Given the description of an element on the screen output the (x, y) to click on. 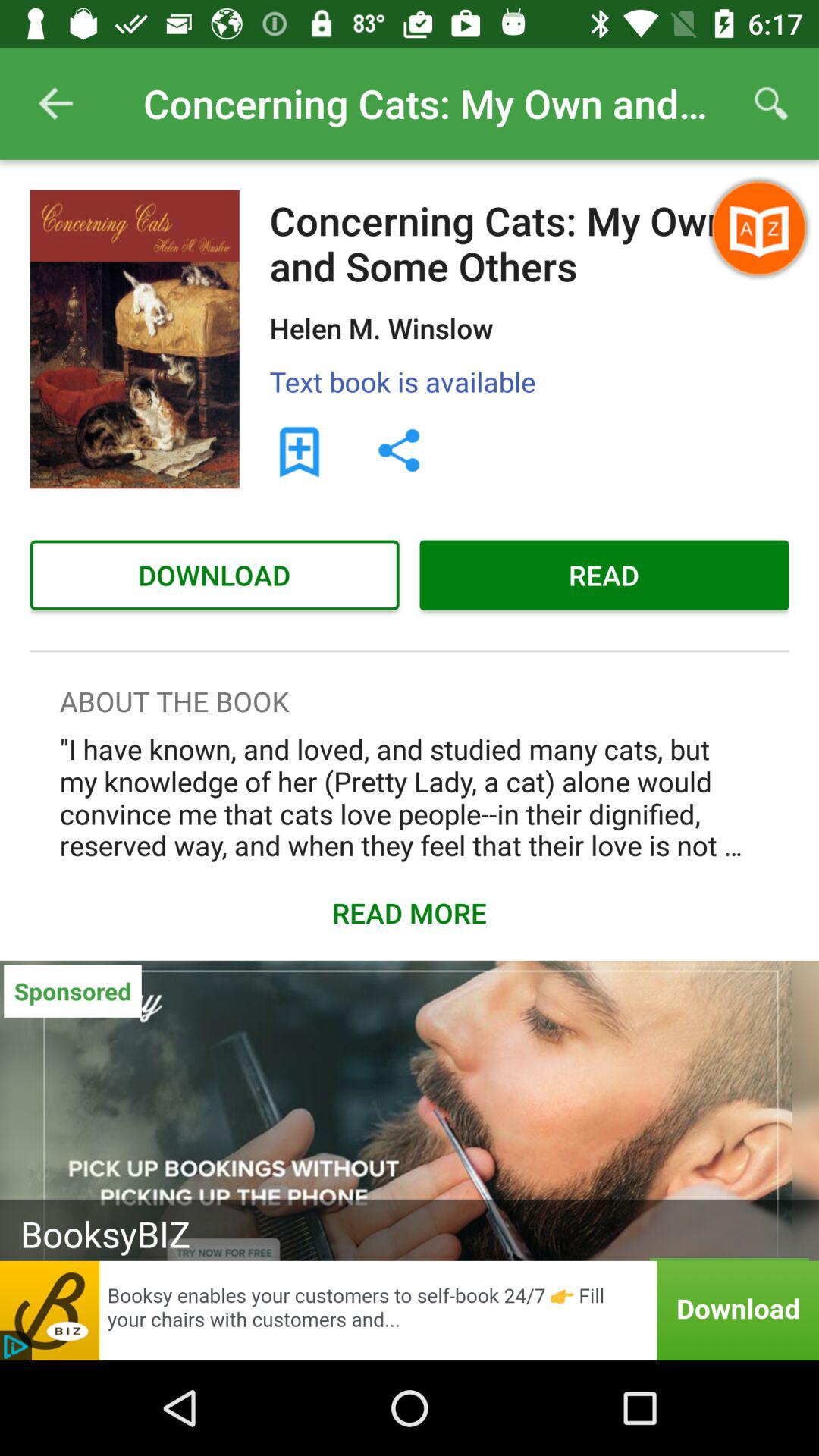
select read more which is above sponsored on the page (409, 912)
